Given the description of an element on the screen output the (x, y) to click on. 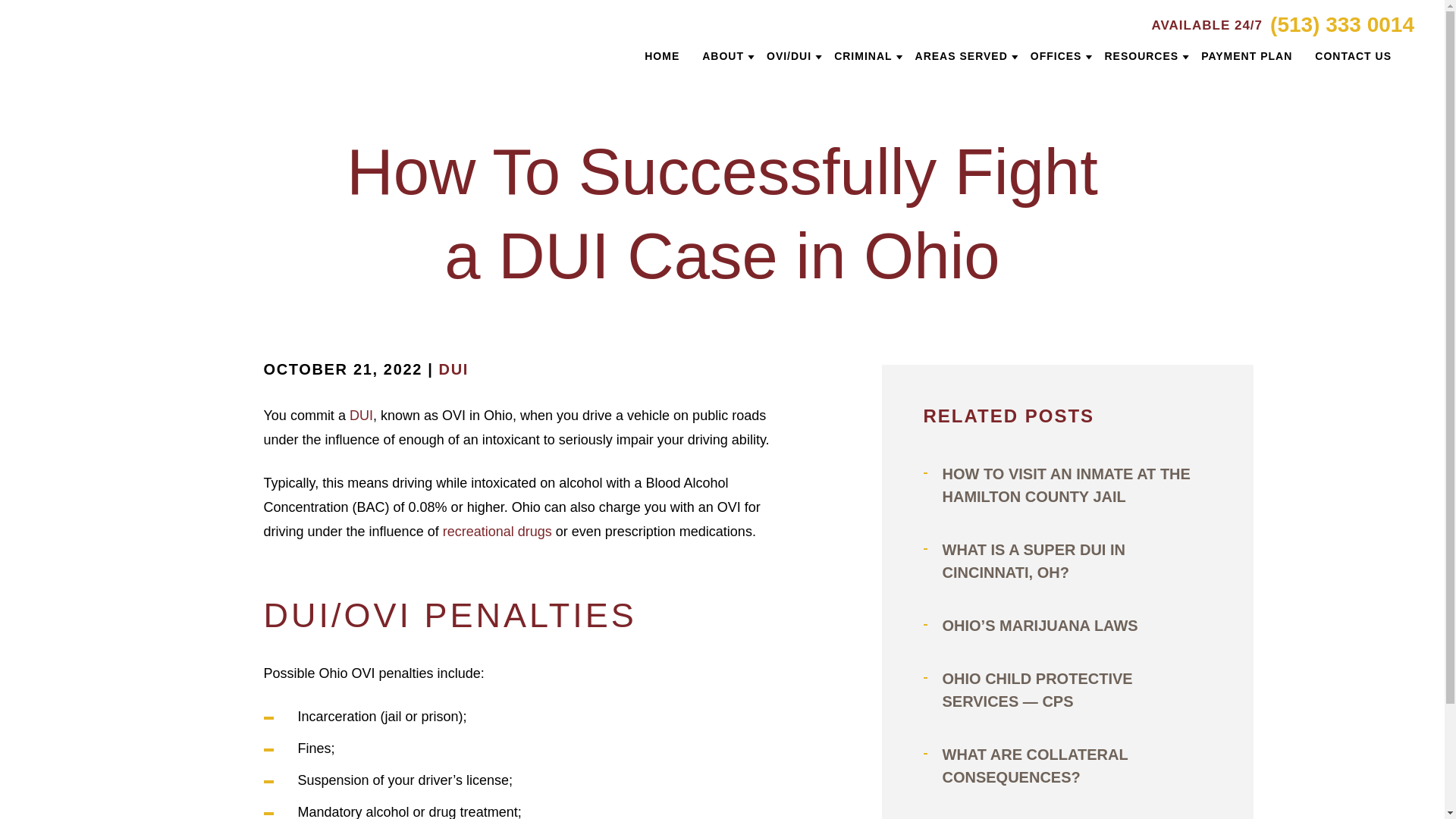
HOME (662, 55)
CRIMINAL (862, 55)
ABOUT (722, 55)
AREAS SERVED (961, 55)
OFFICES (1055, 55)
